Given the description of an element on the screen output the (x, y) to click on. 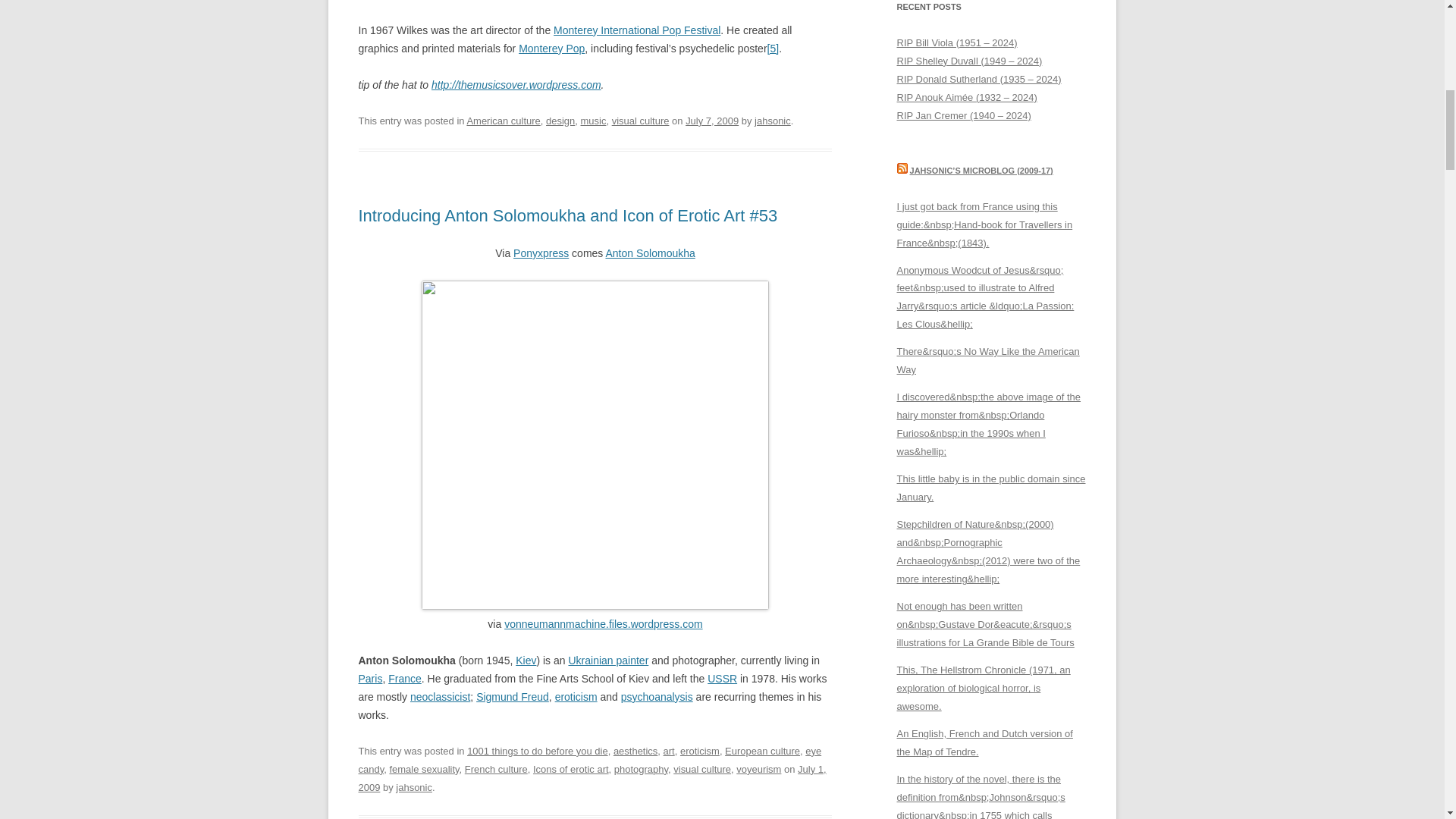
Monterey International Pop Festival (636, 30)
jahsonic (772, 120)
Ponyxpress (541, 253)
design (560, 120)
music (593, 120)
July 7, 2009 (711, 120)
Anton Solomoukha (649, 253)
visual culture (640, 120)
American culture (502, 120)
Monterey Pop (551, 48)
